Given the description of an element on the screen output the (x, y) to click on. 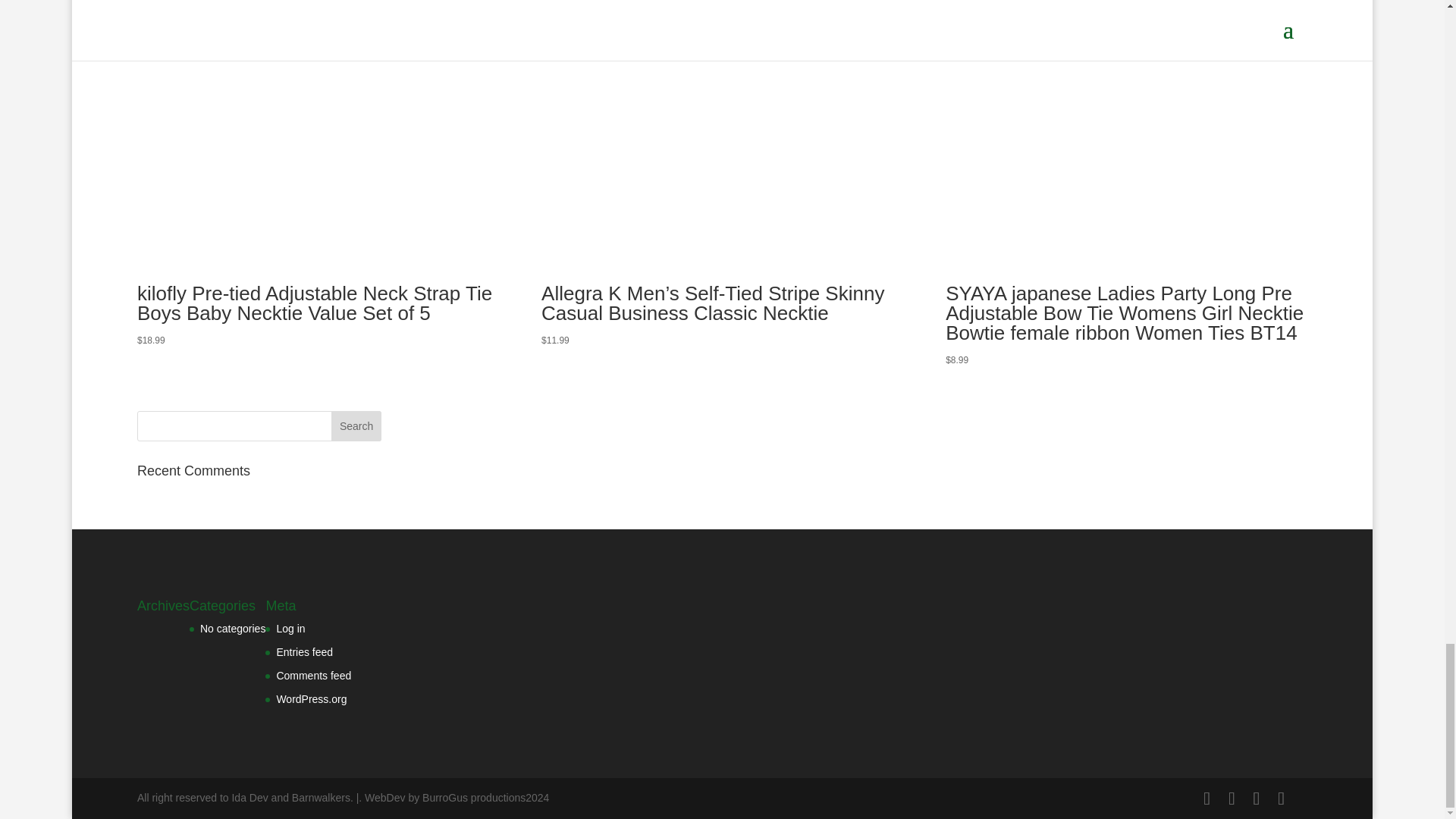
Search (356, 426)
Log in (290, 628)
Search (356, 426)
Comments feed (313, 675)
Entries feed (304, 652)
WordPress.org (311, 698)
